Given the description of an element on the screen output the (x, y) to click on. 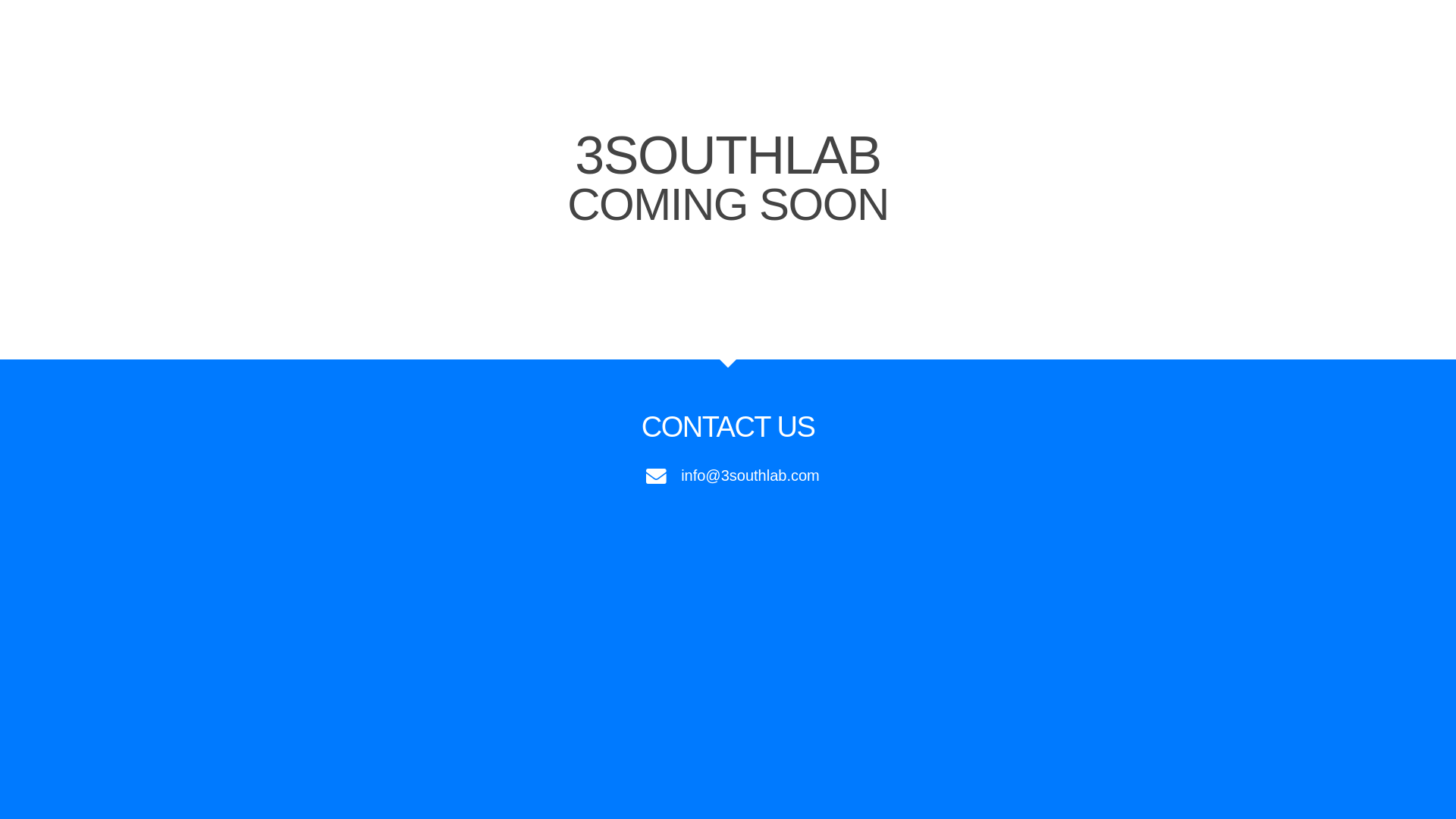
info@3southlab.com Element type: text (727, 475)
